Given the description of an element on the screen output the (x, y) to click on. 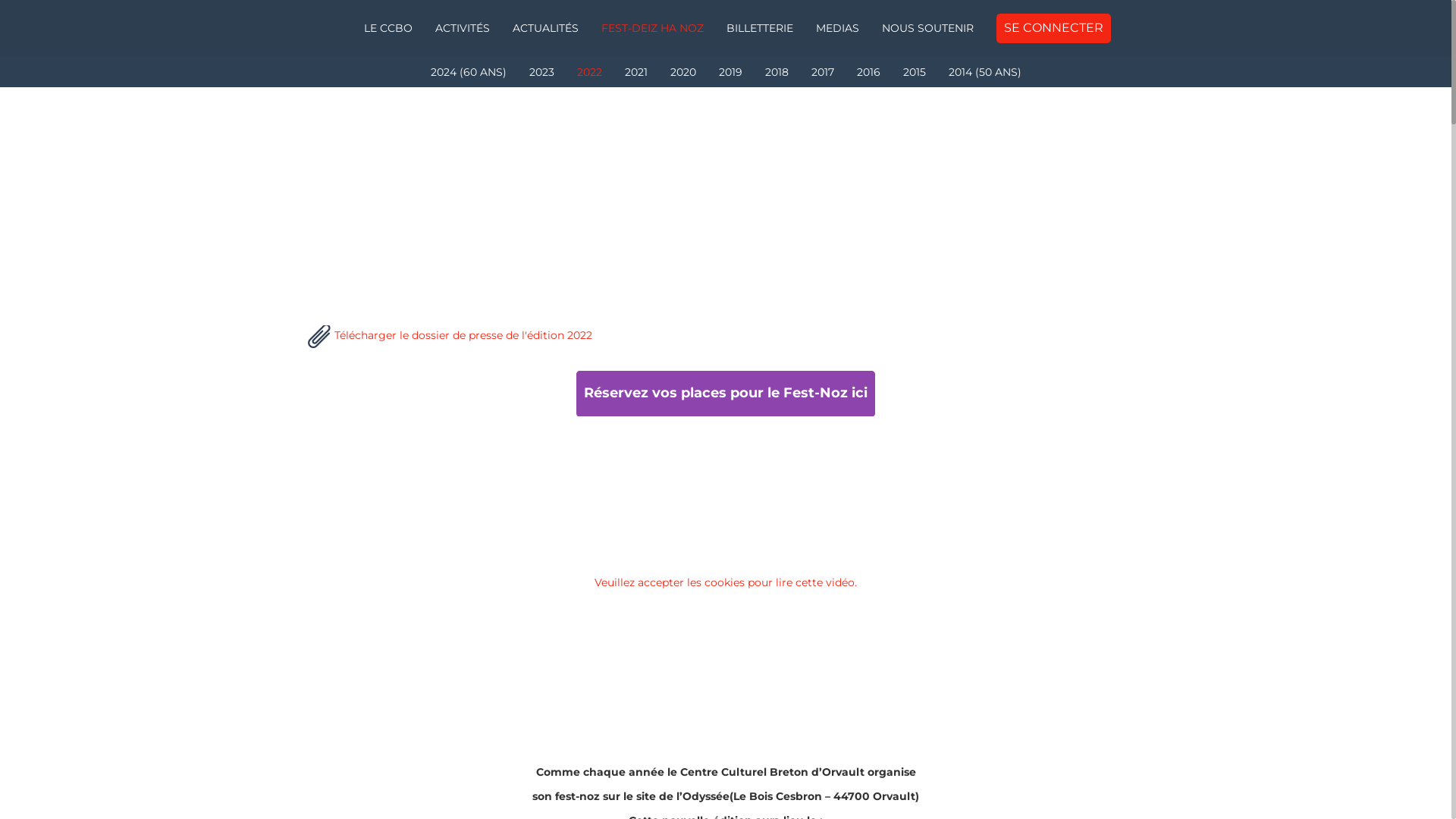
MEDIAS Element type: text (836, 28)
BILLETTERIE Element type: text (758, 28)
2014 (50 ANS) Element type: text (984, 71)
2023 Element type: text (540, 71)
2016 Element type: text (867, 71)
2019 Element type: text (729, 71)
2015 Element type: text (914, 71)
SE CONNECTER Element type: text (1052, 28)
FEST-DEIZ HA NOZ Element type: text (652, 28)
2018 Element type: text (776, 71)
LE CCBO Element type: text (387, 28)
2022 Element type: text (589, 71)
2017 Element type: text (821, 71)
NOUS SOUTENIR Element type: text (927, 28)
2024 (60 ANS) Element type: text (467, 71)
2021 Element type: text (635, 71)
2020 Element type: text (682, 71)
